Given the description of an element on the screen output the (x, y) to click on. 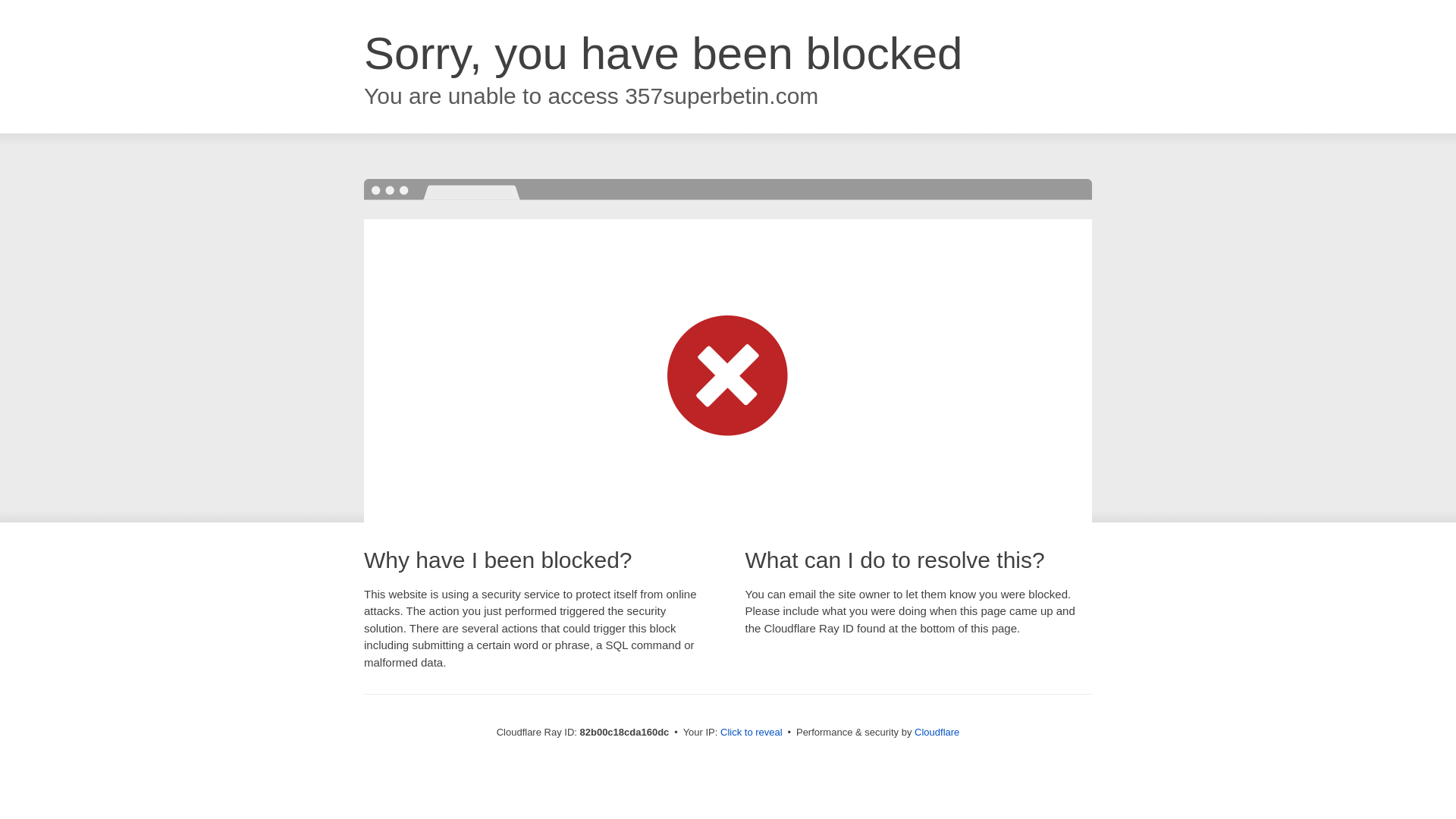
Cloudflare Element type: text (936, 731)
Click to reveal Element type: text (751, 732)
